Given the description of an element on the screen output the (x, y) to click on. 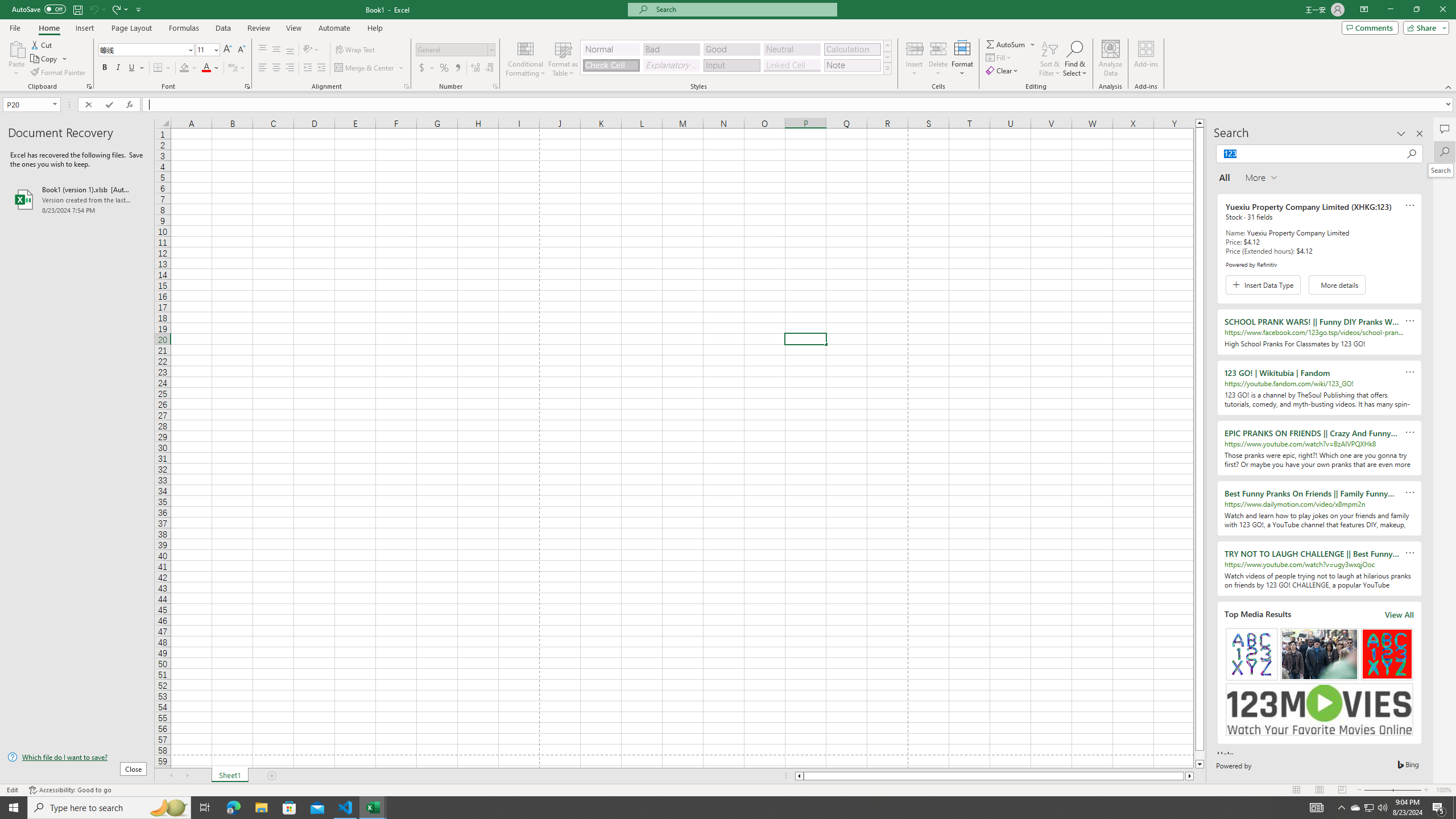
Font Color (210, 67)
Input (731, 65)
Neutral (791, 49)
Format Cell Number (494, 85)
Align Left (262, 67)
Format Cell Font (247, 85)
Note (852, 65)
Linked Cell (791, 65)
